Given the description of an element on the screen output the (x, y) to click on. 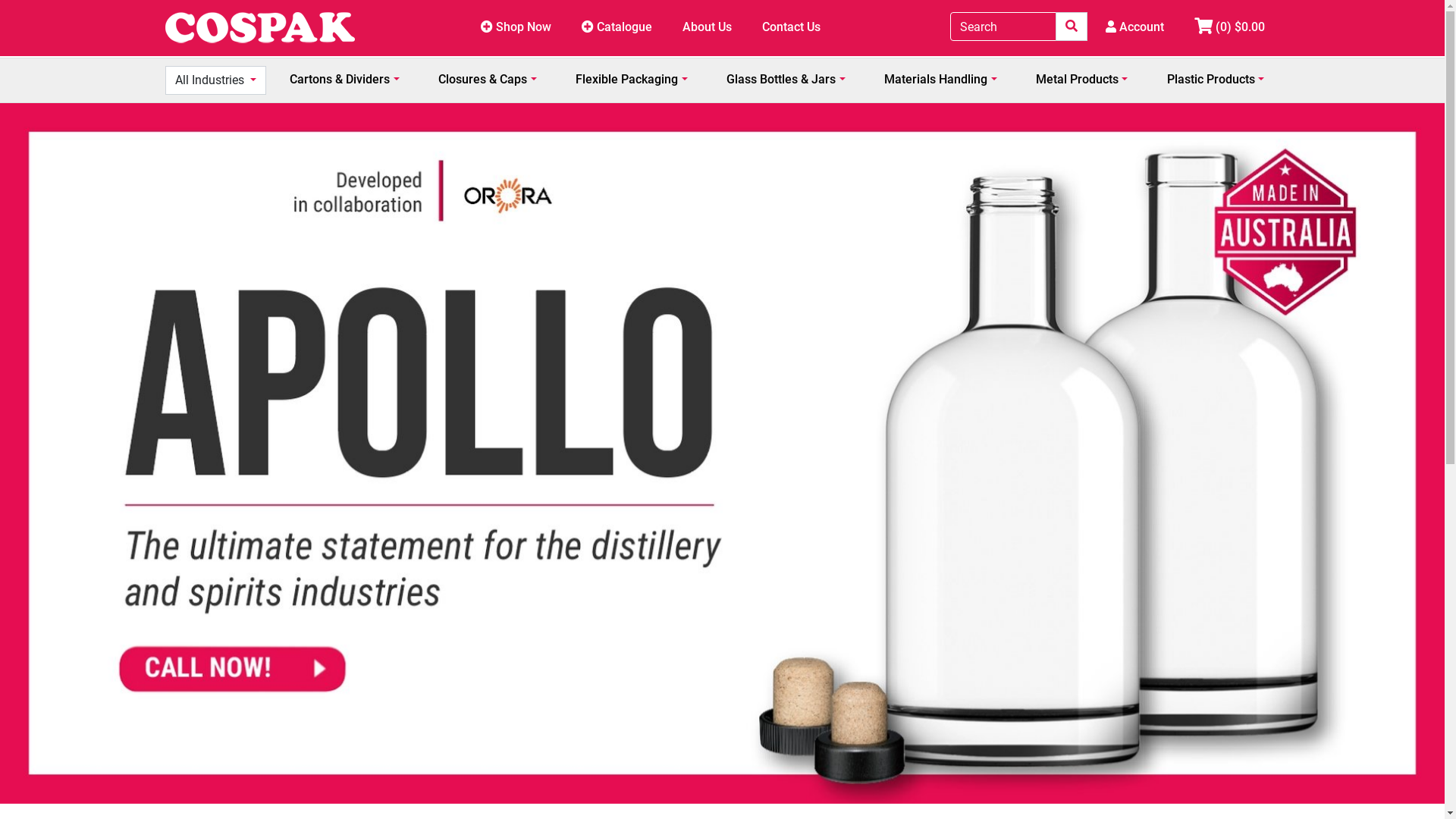
Glass Bottles & Jars Element type: text (785, 80)
About Us Element type: text (706, 27)
Account Element type: text (1134, 27)
Cospak Home Element type: hover (259, 27)
Closures & Caps Element type: text (487, 80)
Metal Products Element type: text (1081, 80)
Catalogue Element type: text (616, 27)
Materials Handling Element type: text (940, 80)
Plastic Products Element type: text (1215, 80)
Next Element type: text (1368, 453)
Shop Now Element type: text (515, 27)
Cartons & Dividers Element type: text (344, 80)
Contact Us Element type: text (790, 27)
Search Products Element type: hover (1071, 26)
All Industries Element type: text (215, 79)
Go Element type: text (1071, 26)
(0) $0.00 Element type: text (1228, 27)
Previous Element type: text (75, 453)
Flexible Packaging Element type: text (631, 80)
